Given the description of an element on the screen output the (x, y) to click on. 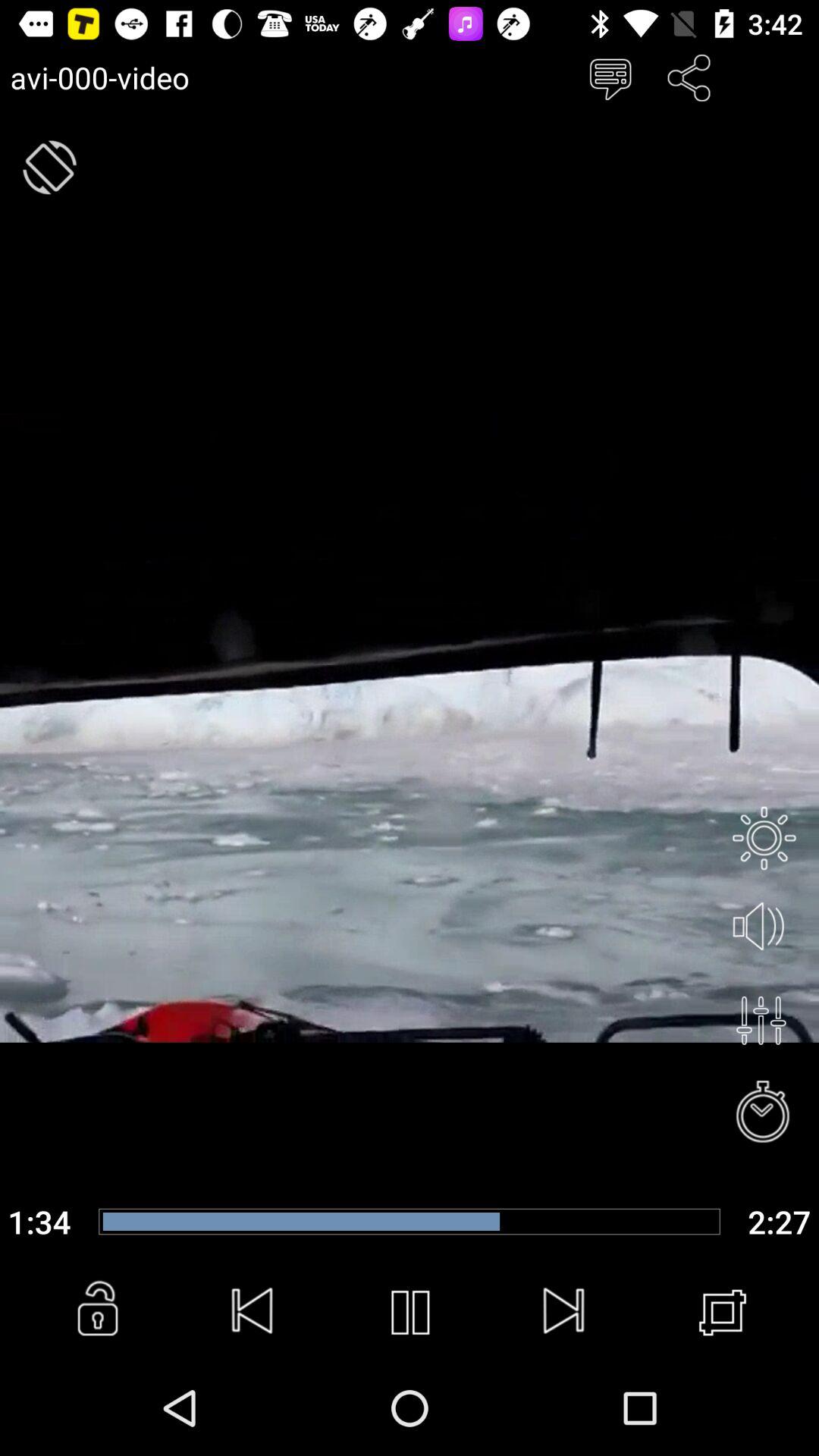
next button (565, 1312)
